Given the description of an element on the screen output the (x, y) to click on. 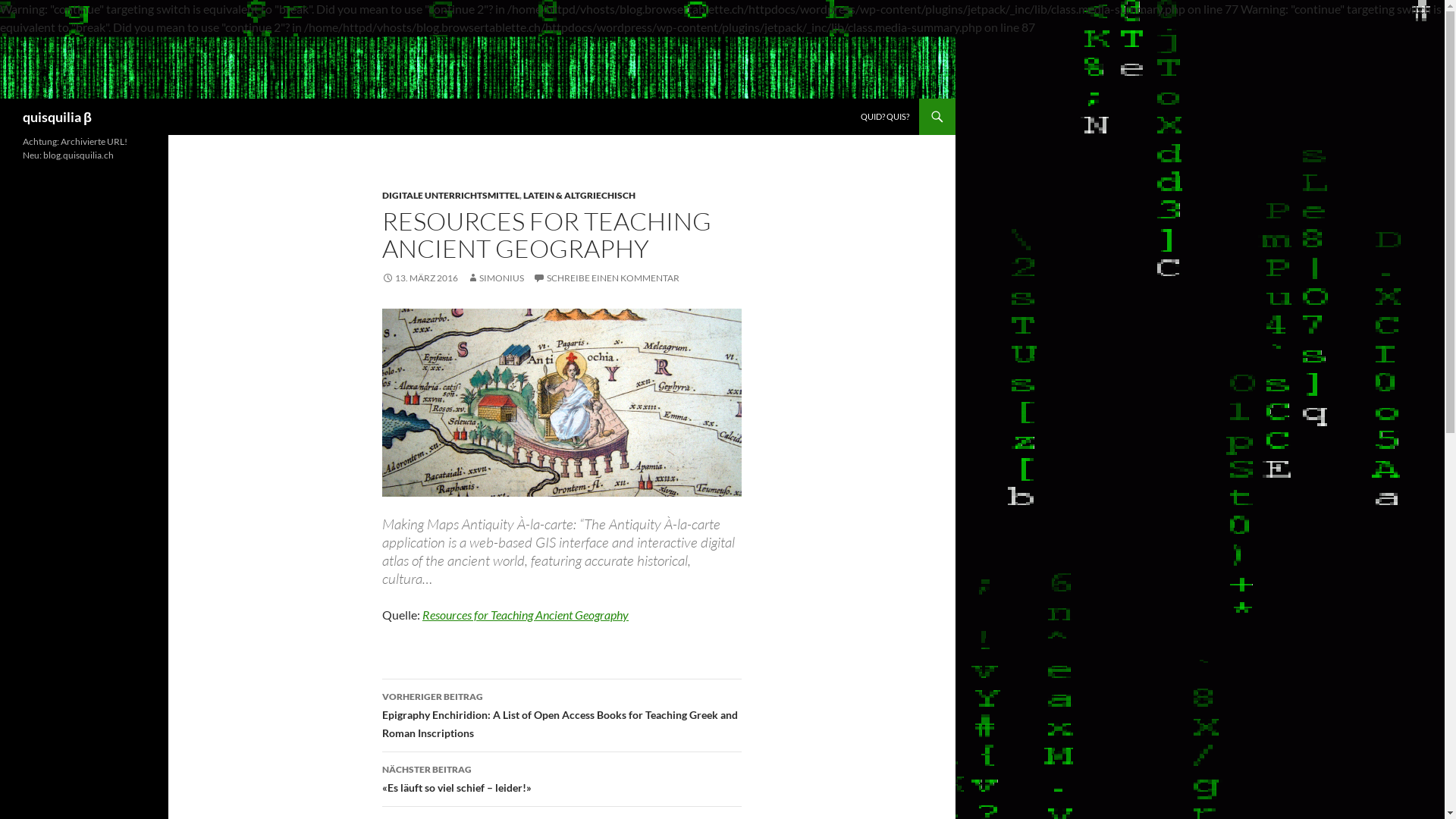
SCHREIBE EINEN KOMMENTAR Element type: text (606, 277)
SPRINGE ZUM INHALT Element type: text (859, 97)
DIGITALE UNTERRICHTSMITTEL Element type: text (450, 194)
Resources for Teaching Ancient Geography Element type: text (525, 614)
LATEIN & ALTGRIECHISCH Element type: text (579, 194)
QUID? QUIS? Element type: text (884, 116)
SIMONIUS Element type: text (495, 277)
Suchen Element type: text (3, 97)
